Given the description of an element on the screen output the (x, y) to click on. 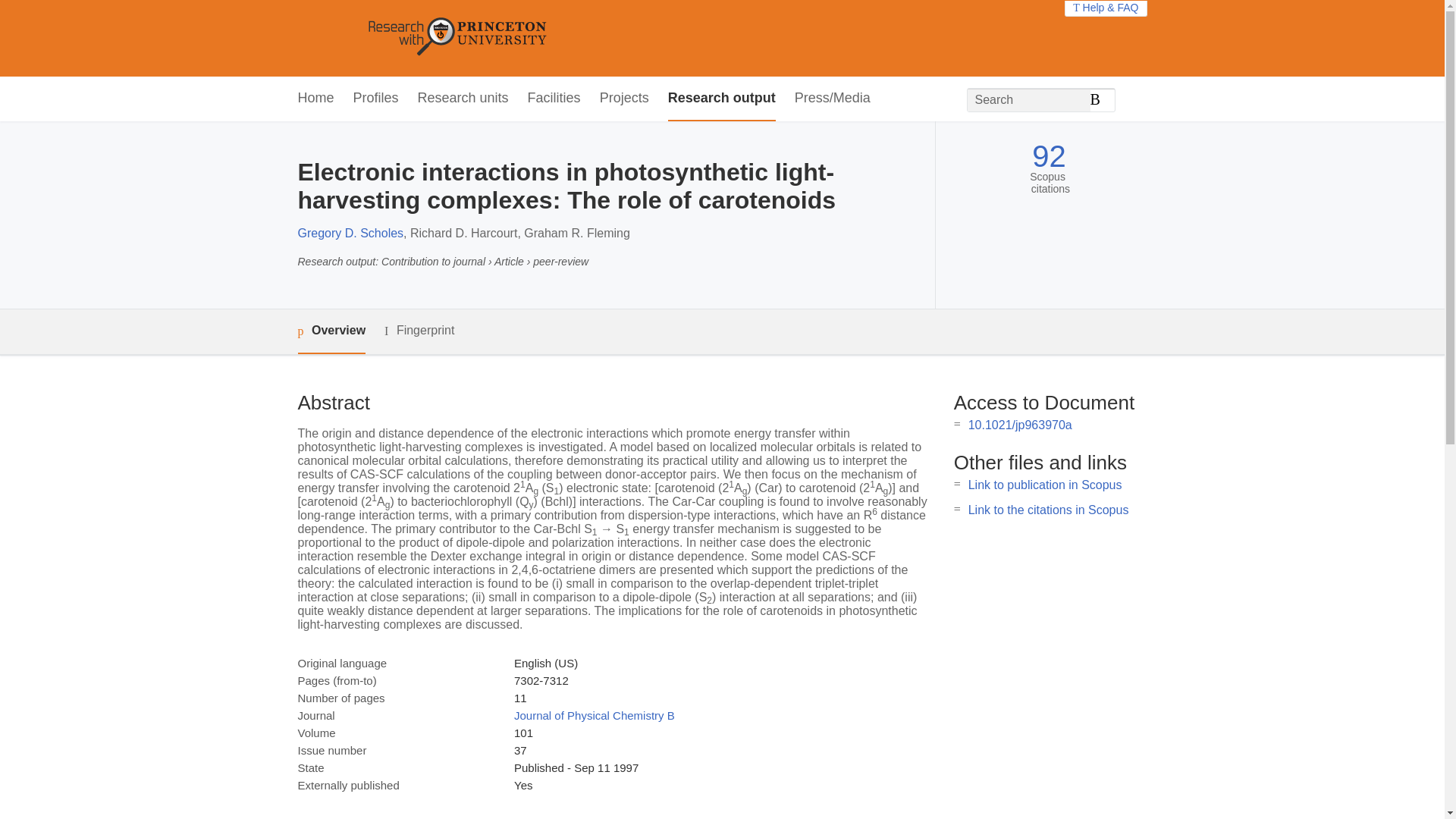
Profiles (375, 98)
Projects (624, 98)
Princeton University Home (567, 38)
Gregory D. Scholes (350, 232)
Research units (462, 98)
92 (1048, 156)
Link to publication in Scopus (1045, 484)
Research output (722, 98)
Facilities (553, 98)
Fingerprint (419, 330)
Overview (331, 331)
Link to the citations in Scopus (1048, 509)
Journal of Physical Chemistry B (594, 715)
